Given the description of an element on the screen output the (x, y) to click on. 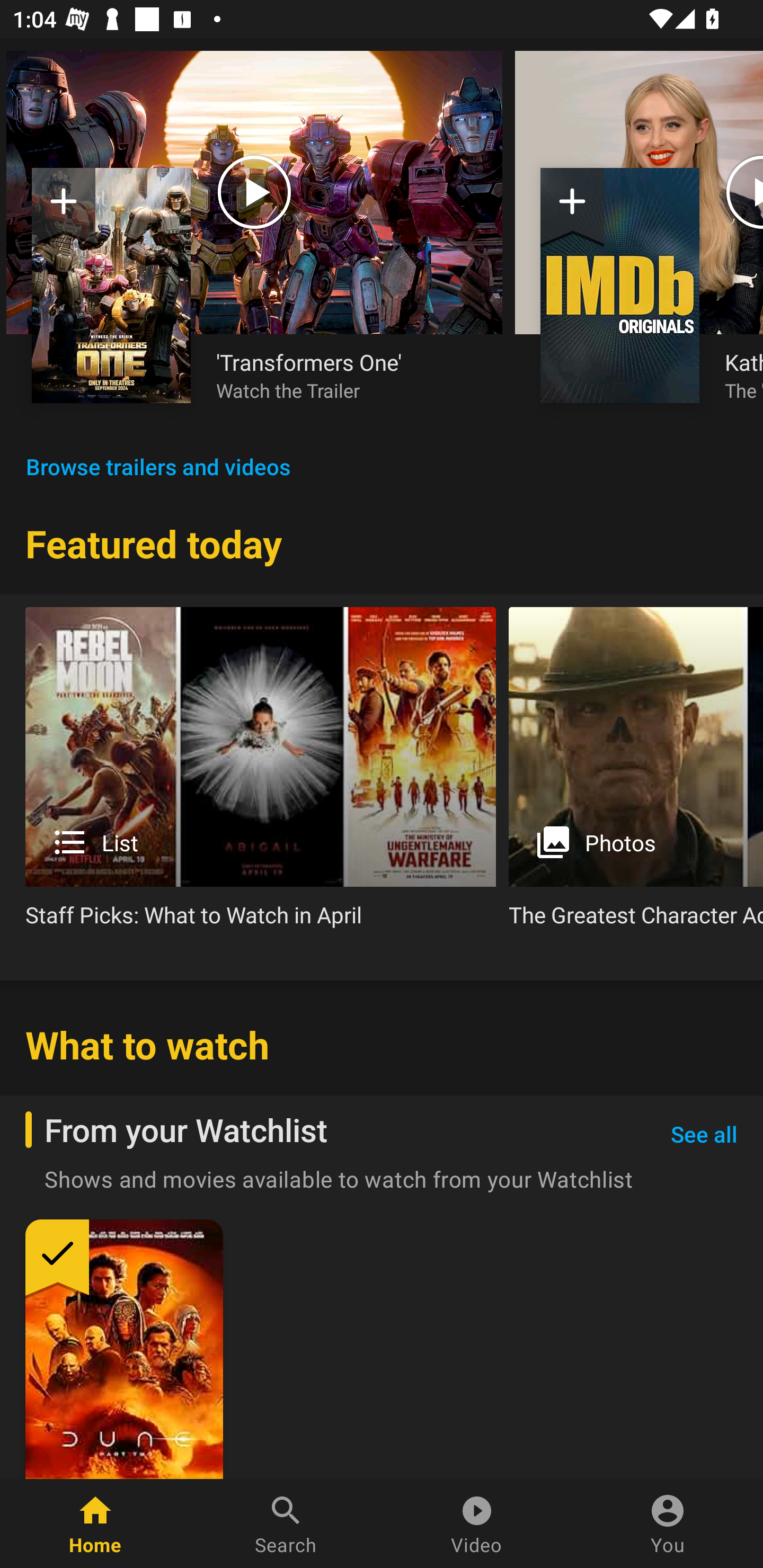
Not in watchlist (111, 284)
Not in watchlist (63, 207)
Not in watchlist (619, 284)
Not in watchlist (572, 207)
'Transformers One' Watch the Trailer (345, 374)
List Staff Picks: What to Watch in April (260, 774)
Photos The Greatest Character Actors of All Time (635, 774)
See all See all From your Watchlist (703, 1134)
Search (285, 1523)
Video (476, 1523)
You (667, 1523)
